Given the description of an element on the screen output the (x, y) to click on. 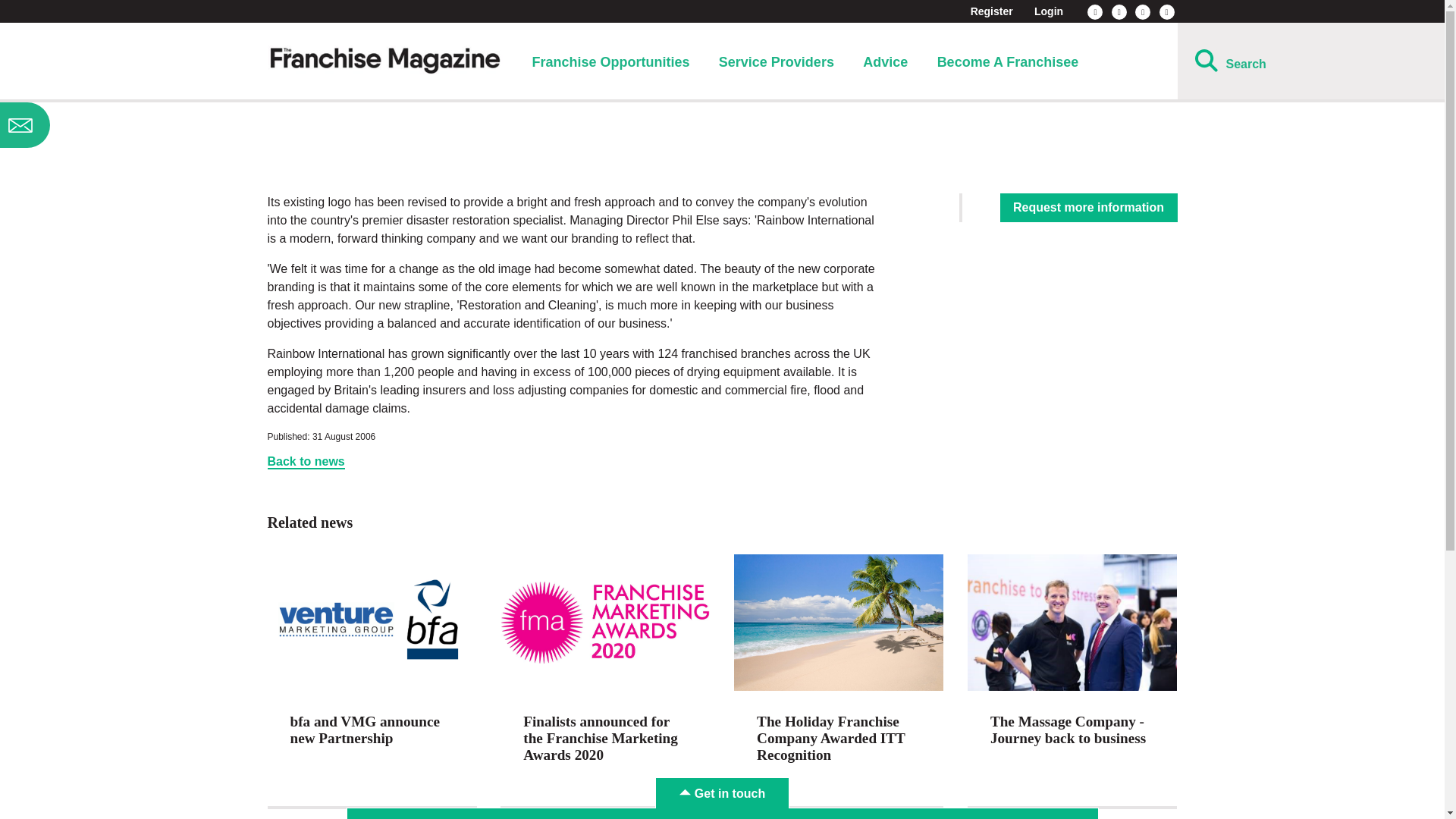
SignupModal (120, 125)
Become A Franchisee (1007, 61)
Login (1047, 10)
Service Providers (776, 61)
Login (1047, 10)
Sign up to the newsletter (120, 125)
Register (992, 10)
Franchise Opportunities (609, 61)
Advice (885, 61)
Service Providers (776, 61)
